Given the description of an element on the screen output the (x, y) to click on. 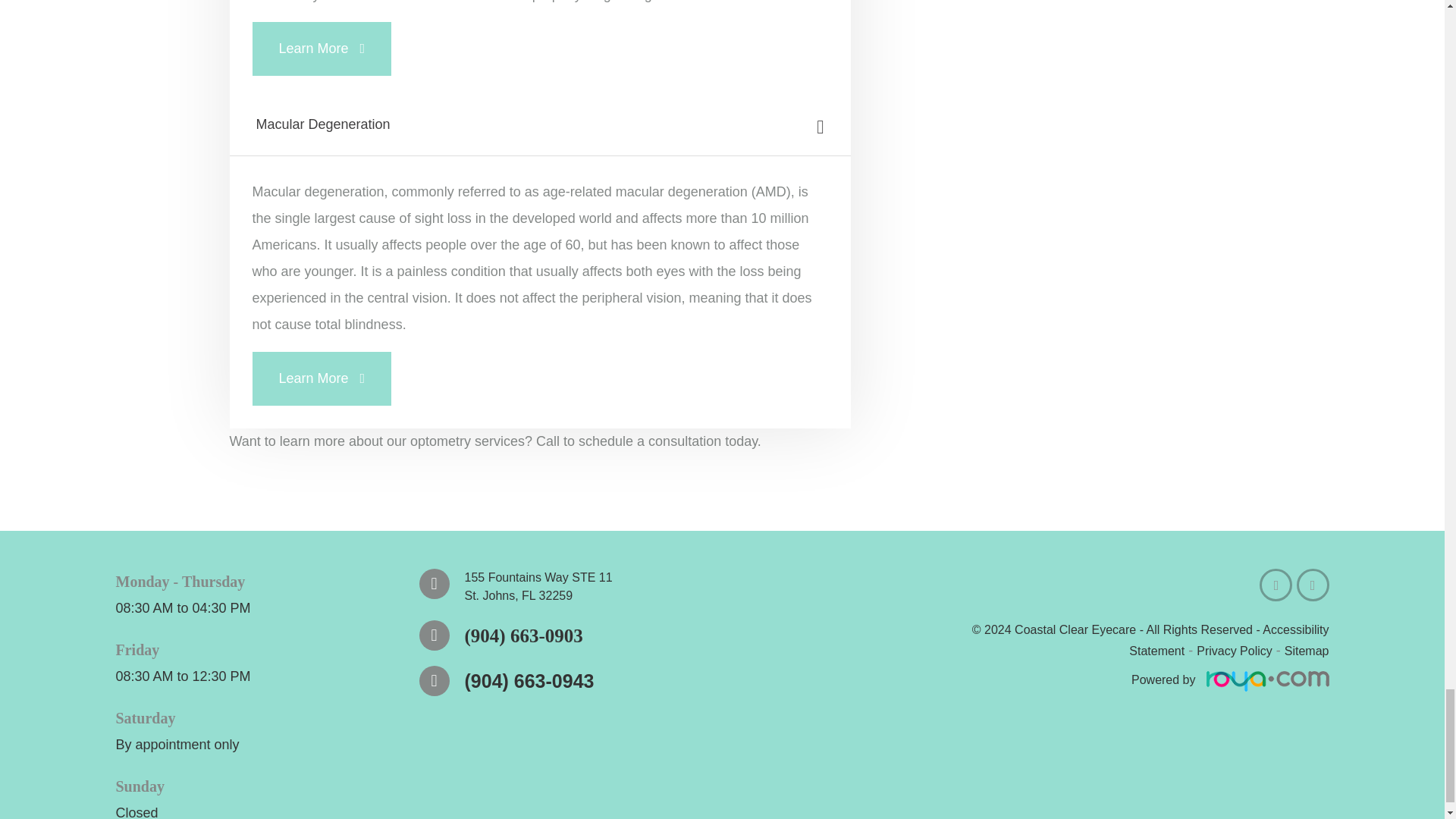
Roya (1266, 680)
Learn More (321, 378)
Learn More (321, 49)
